Given the description of an element on the screen output the (x, y) to click on. 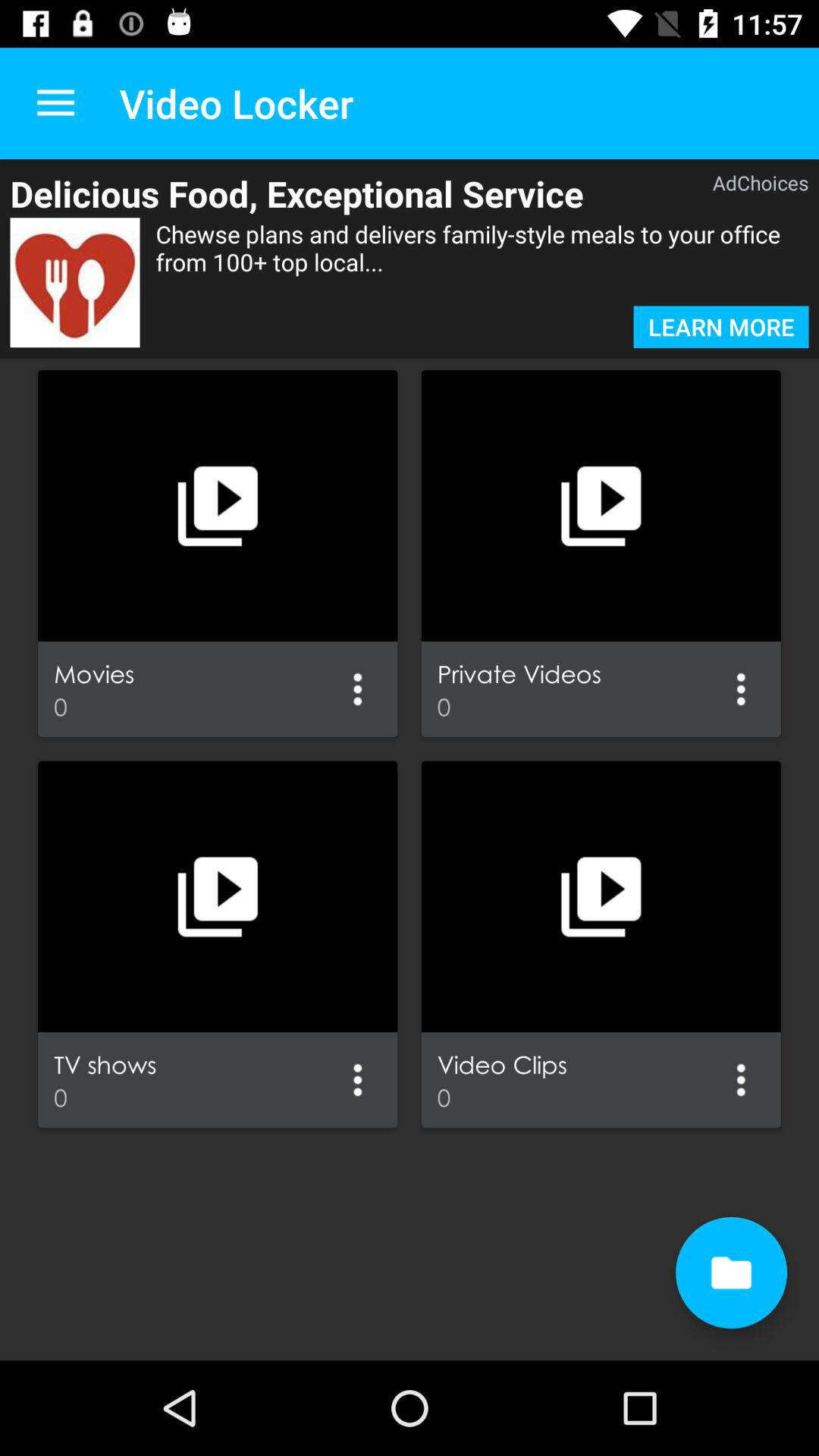
turn on the chewse plans and item (481, 261)
